Given the description of an element on the screen output the (x, y) to click on. 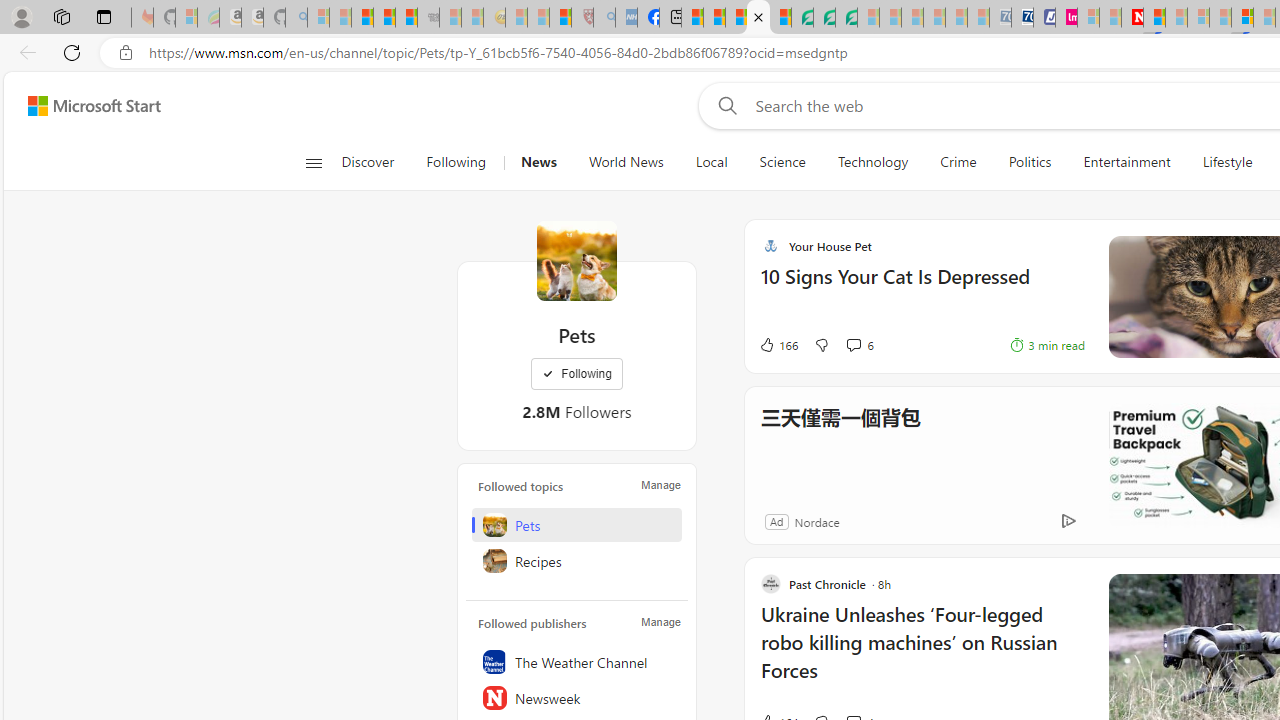
View comments 6 Comment (859, 344)
New Report Confirms 2023 Was Record Hot | Watch (406, 17)
Newsweek (577, 697)
